Given the description of an element on the screen output the (x, y) to click on. 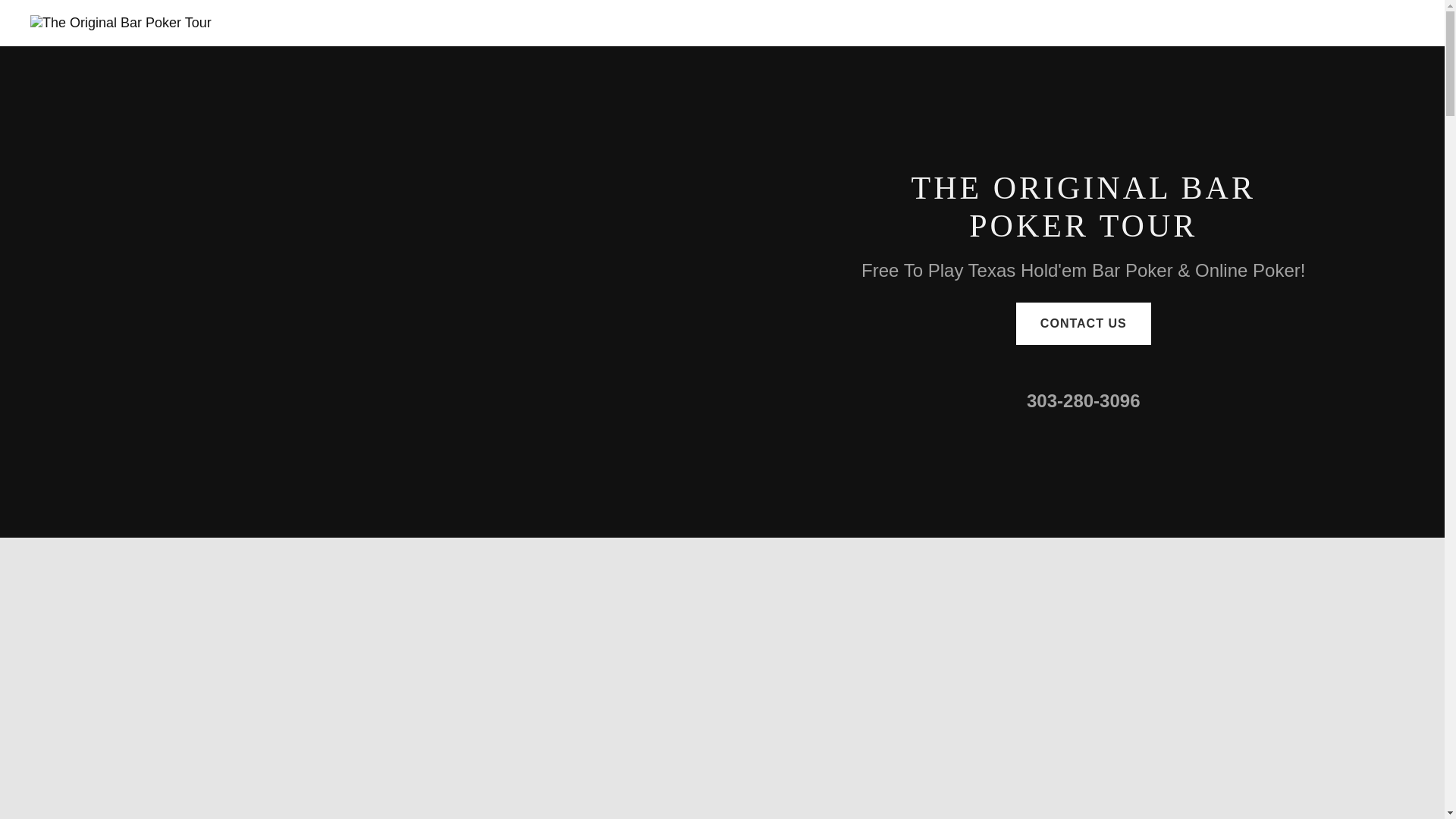
CONTACT US (1083, 323)
303-280-3096 (1083, 400)
The Original Bar Poker Tour (120, 22)
